Given the description of an element on the screen output the (x, y) to click on. 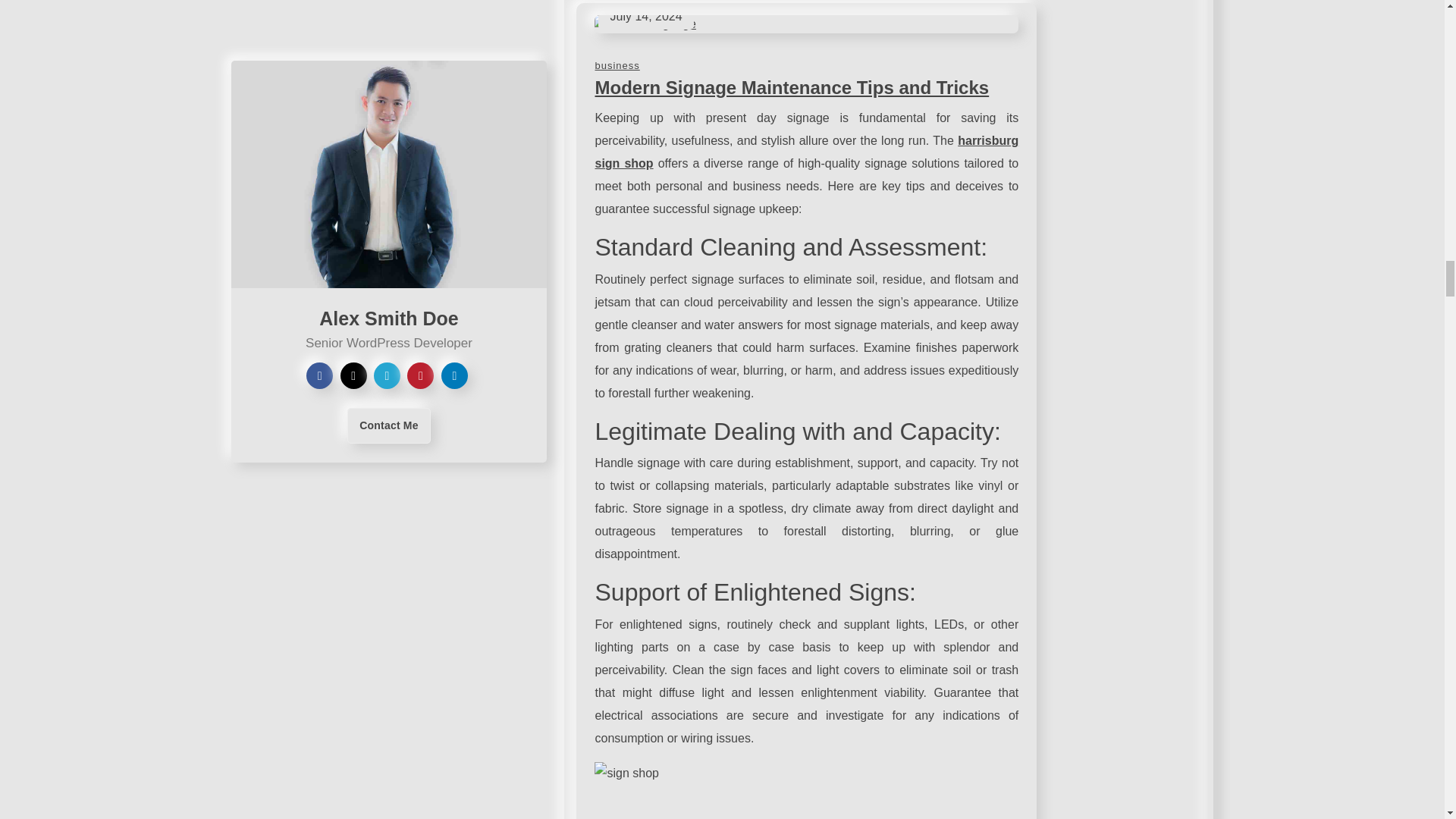
business (616, 65)
Modern Signage Maintenance Tips and Tricks (791, 86)
harrisburg sign shop (805, 151)
